Given the description of an element on the screen output the (x, y) to click on. 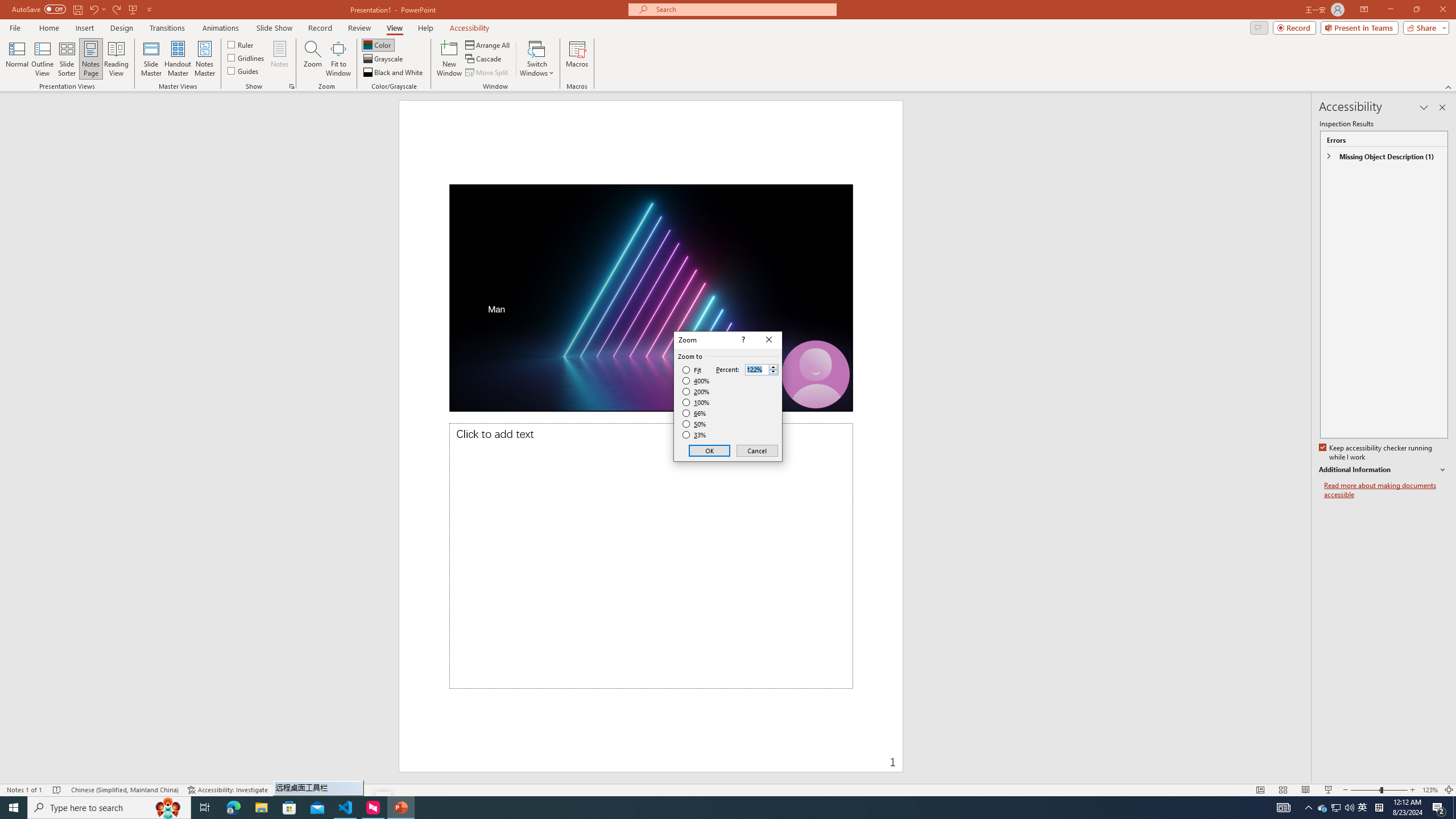
Guides (243, 69)
Arrange All (488, 44)
Outline View (42, 58)
Cancel (756, 450)
Notes Page (90, 58)
